Given the description of an element on the screen output the (x, y) to click on. 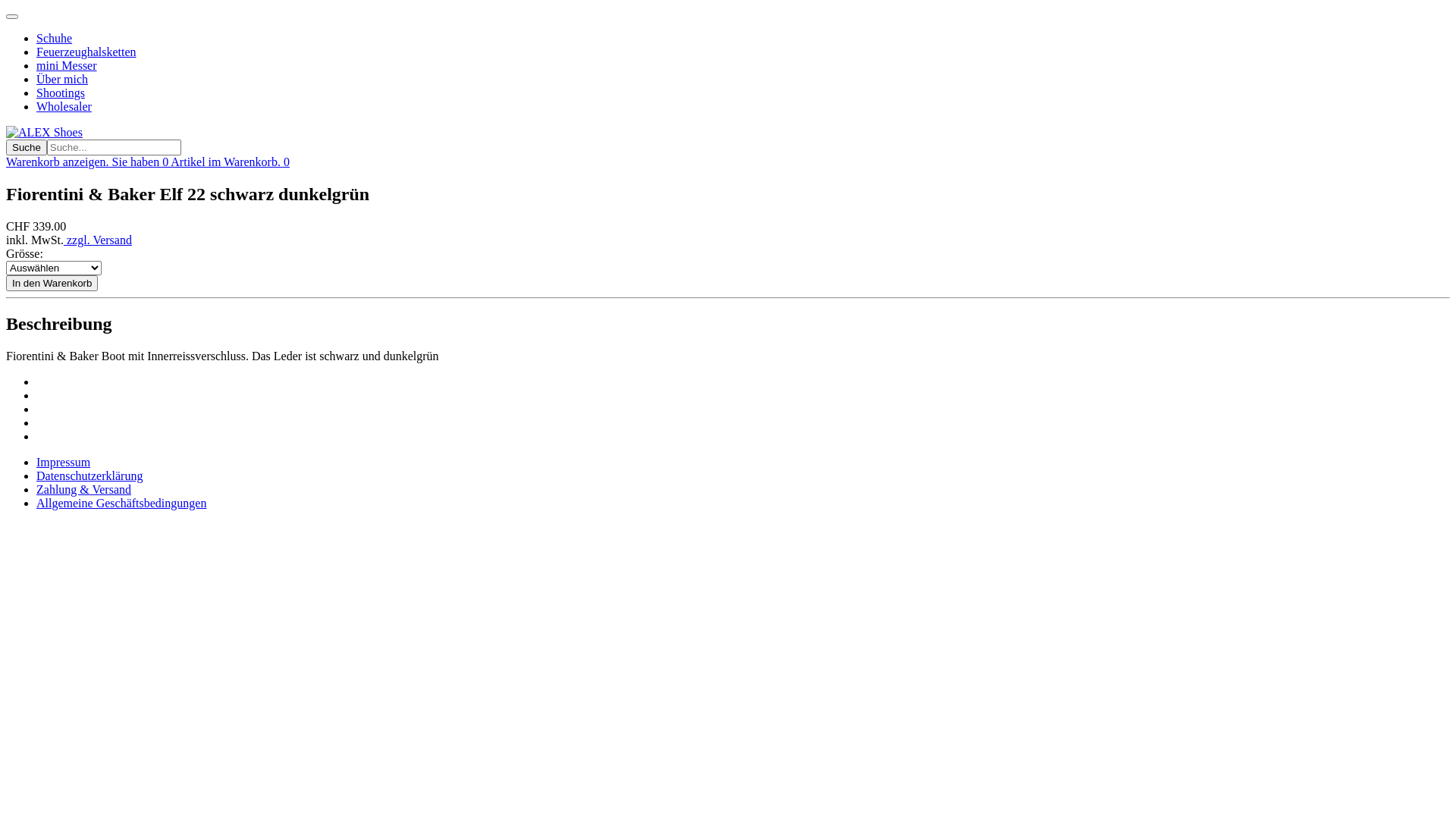
Schuhe Element type: text (54, 37)
mini Messer Element type: text (66, 65)
In den Warenkorb Element type: text (51, 283)
ALEX Shoes Element type: hover (44, 131)
Wholesaler Element type: text (63, 106)
Feuerzeughalsketten Element type: text (86, 51)
Warenkorb anzeigen. Sie haben 0 Artikel im Warenkorb. 0 Element type: text (147, 161)
Impressum Element type: text (63, 461)
Shootings Element type: text (60, 92)
Zahlung & Versand Element type: text (83, 489)
zzgl. Versand Element type: text (97, 239)
Suche Element type: text (26, 147)
